Given the description of an element on the screen output the (x, y) to click on. 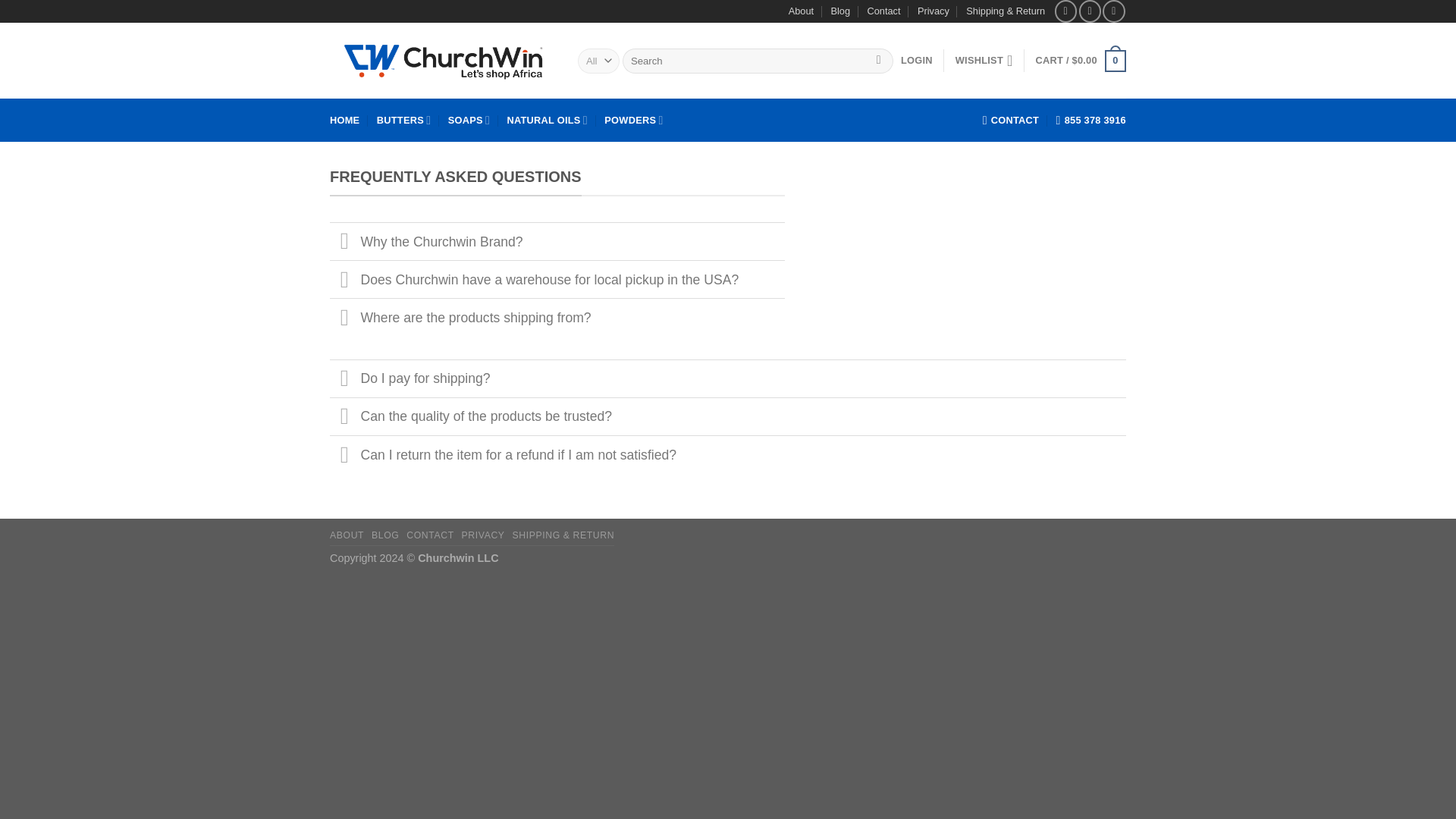
Search (878, 61)
855 378 3916 (1091, 120)
LOGIN (917, 60)
Send us an email (1113, 11)
855 378 3916 (1091, 120)
SOAPS (468, 119)
WISHLIST (984, 60)
Churchwin - Let's Shop Africa (442, 60)
Cart (1080, 61)
Follow on Instagram (1089, 11)
